Given the description of an element on the screen output the (x, y) to click on. 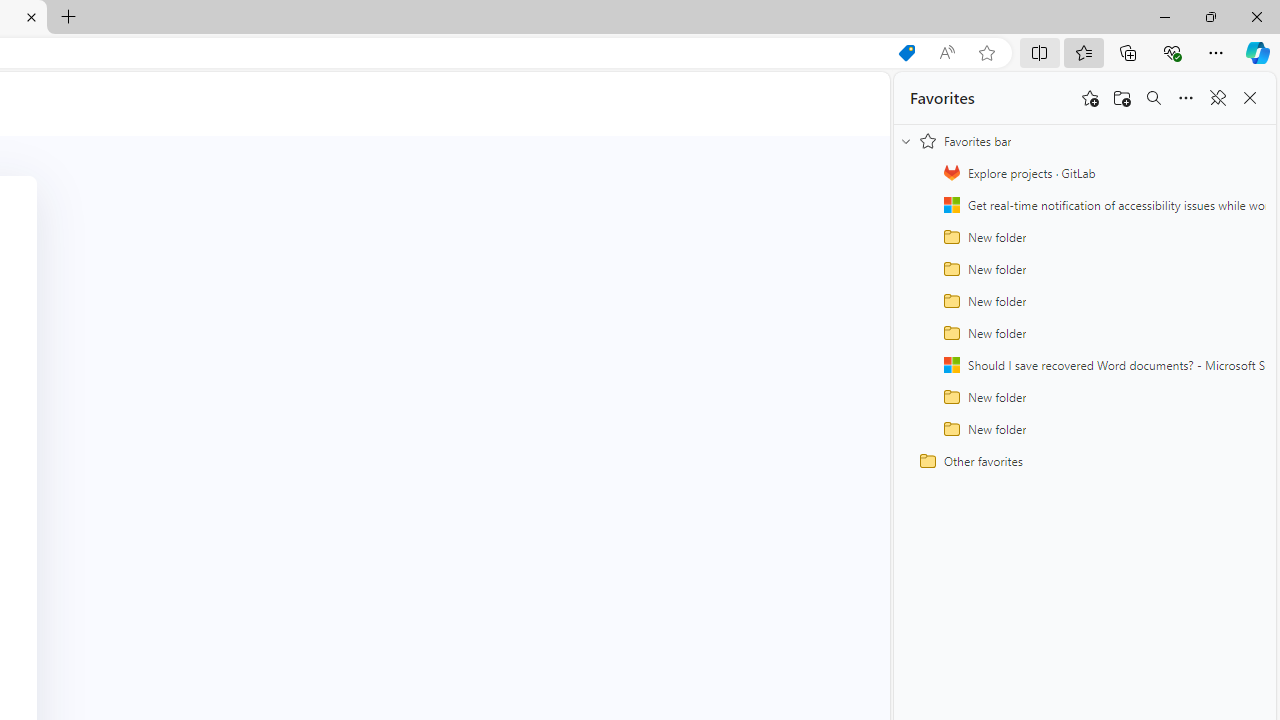
Close favorites (1250, 98)
Search favorites (1153, 98)
Unpin favorites (1217, 98)
